Given the description of an element on the screen output the (x, y) to click on. 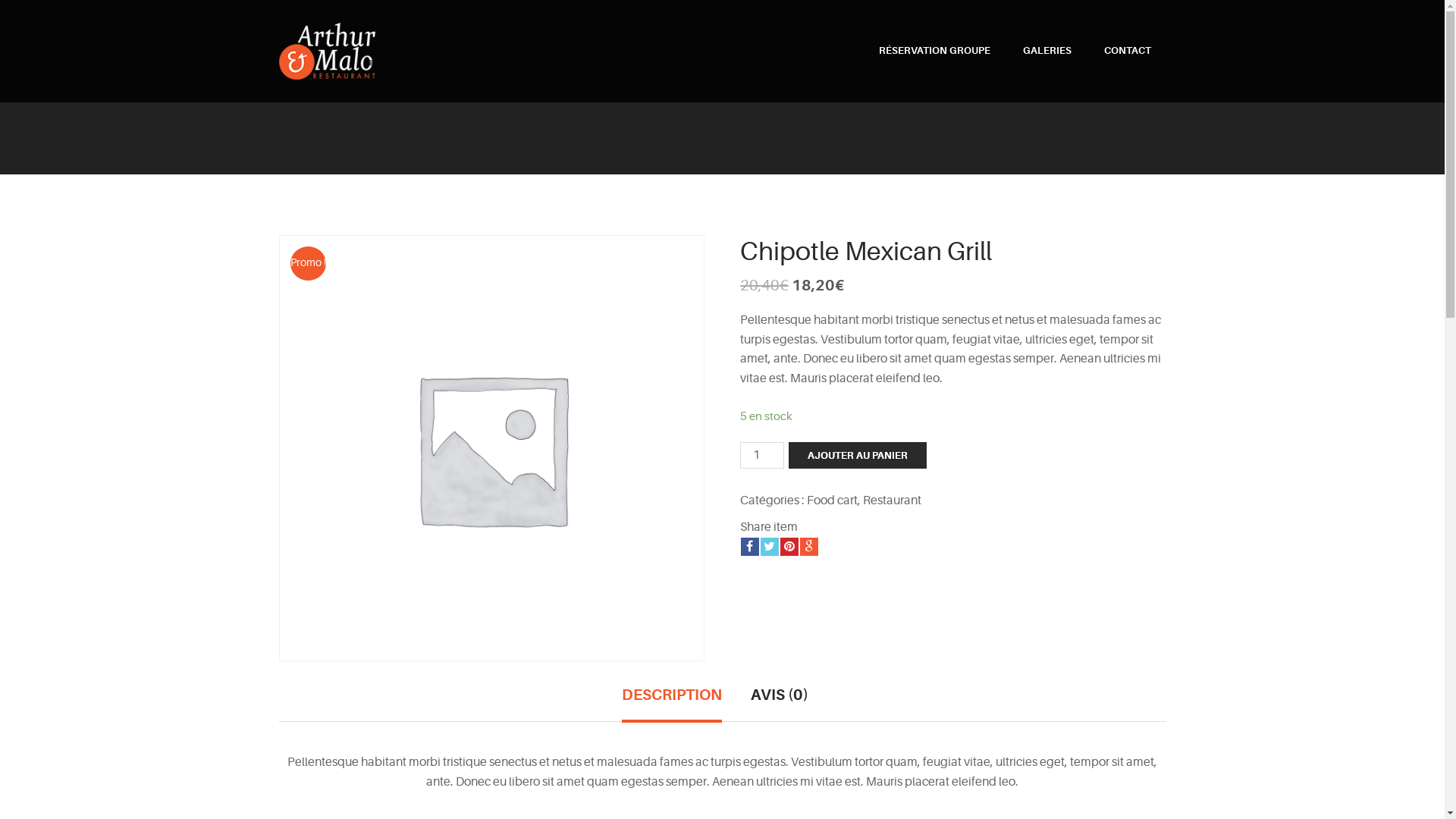
AVIS (0) Element type: text (779, 702)
Pinterest Element type: hover (789, 546)
Google Plus Element type: hover (809, 546)
Restaurant Element type: text (891, 500)
GALERIES Element type: text (1046, 50)
Twitter Element type: hover (769, 546)
DESCRIPTION Element type: text (671, 704)
Facebook Element type: hover (749, 546)
Food cart Element type: text (831, 500)
CONTACT Element type: text (1127, 50)
AJOUTER AU PANIER Element type: text (857, 455)
